Given the description of an element on the screen output the (x, y) to click on. 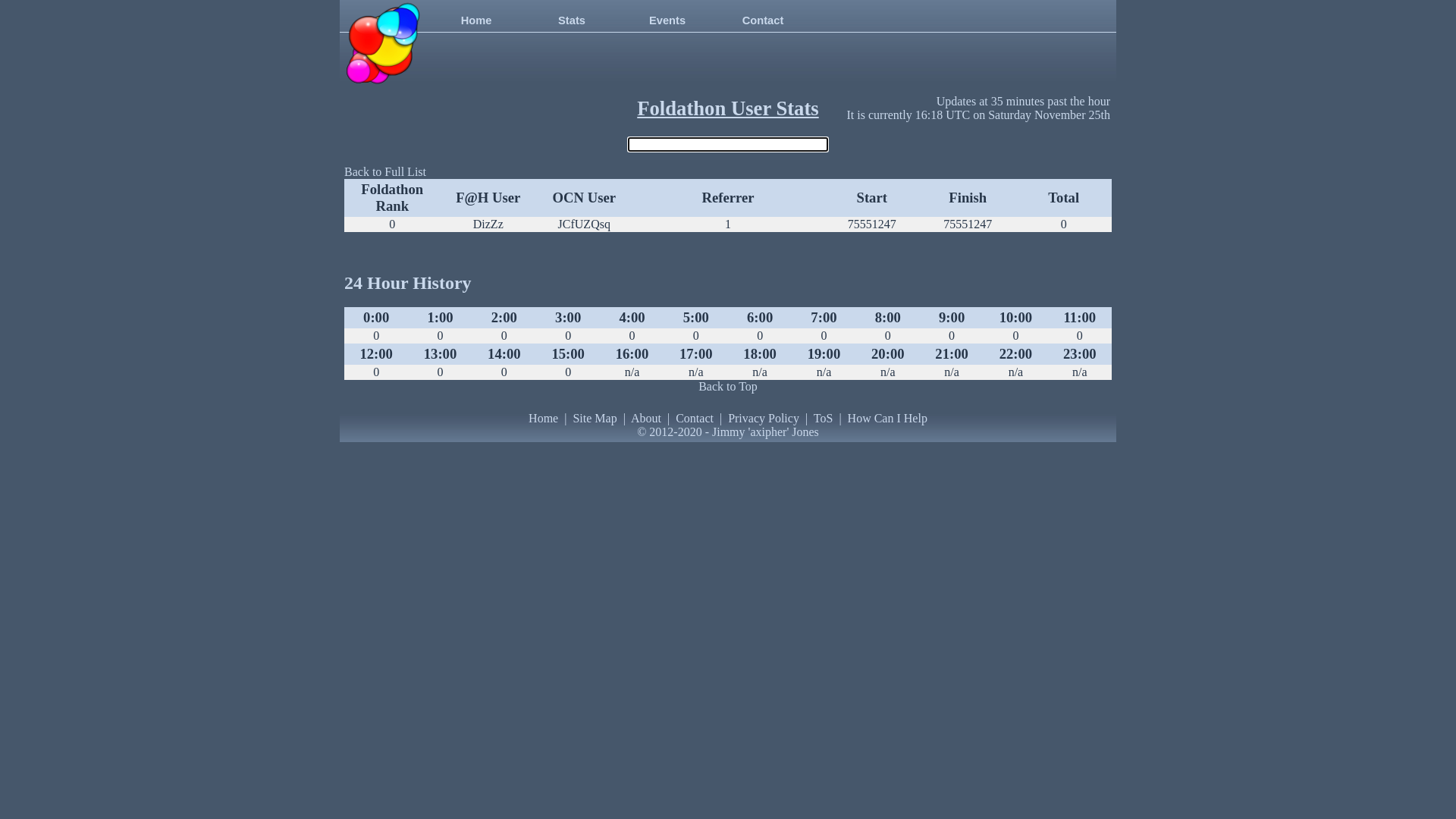
Back to Full List Element type: text (385, 171)
Back to Top Element type: text (727, 385)
DizZz Element type: text (487, 224)
Events Element type: text (667, 21)
Contact Element type: text (694, 417)
Site Map Element type: text (594, 417)
Privacy Policy Element type: text (763, 417)
How Can I Help Element type: text (887, 417)
Home Element type: text (543, 417)
Home Element type: text (476, 21)
ToS Element type: text (823, 417)
About Element type: text (645, 417)
Contact Element type: text (762, 21)
Stats Element type: text (571, 21)
